Given the description of an element on the screen output the (x, y) to click on. 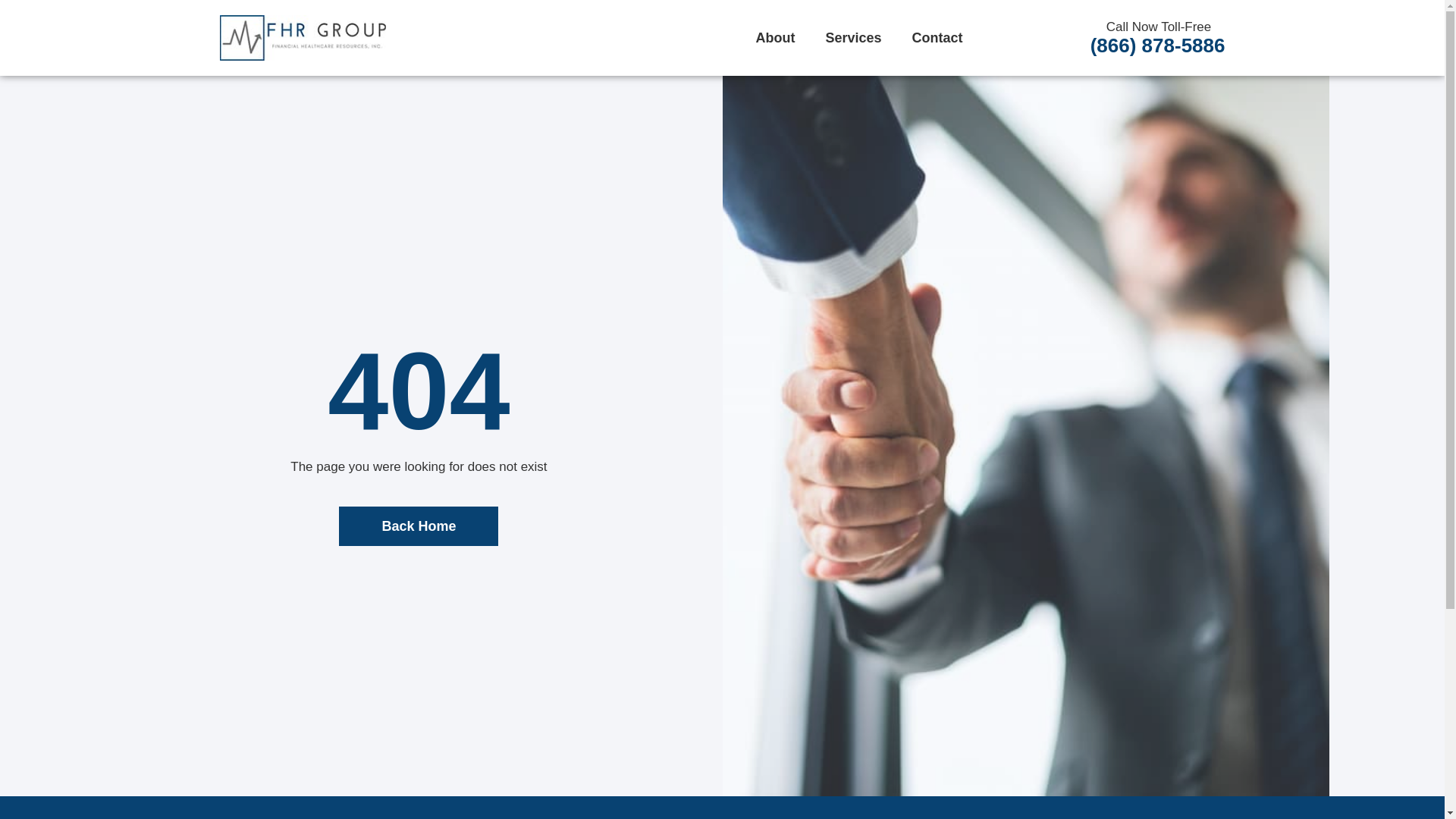
Services (852, 37)
Back Home (418, 526)
About (774, 37)
Contact (937, 37)
